Given the description of an element on the screen output the (x, y) to click on. 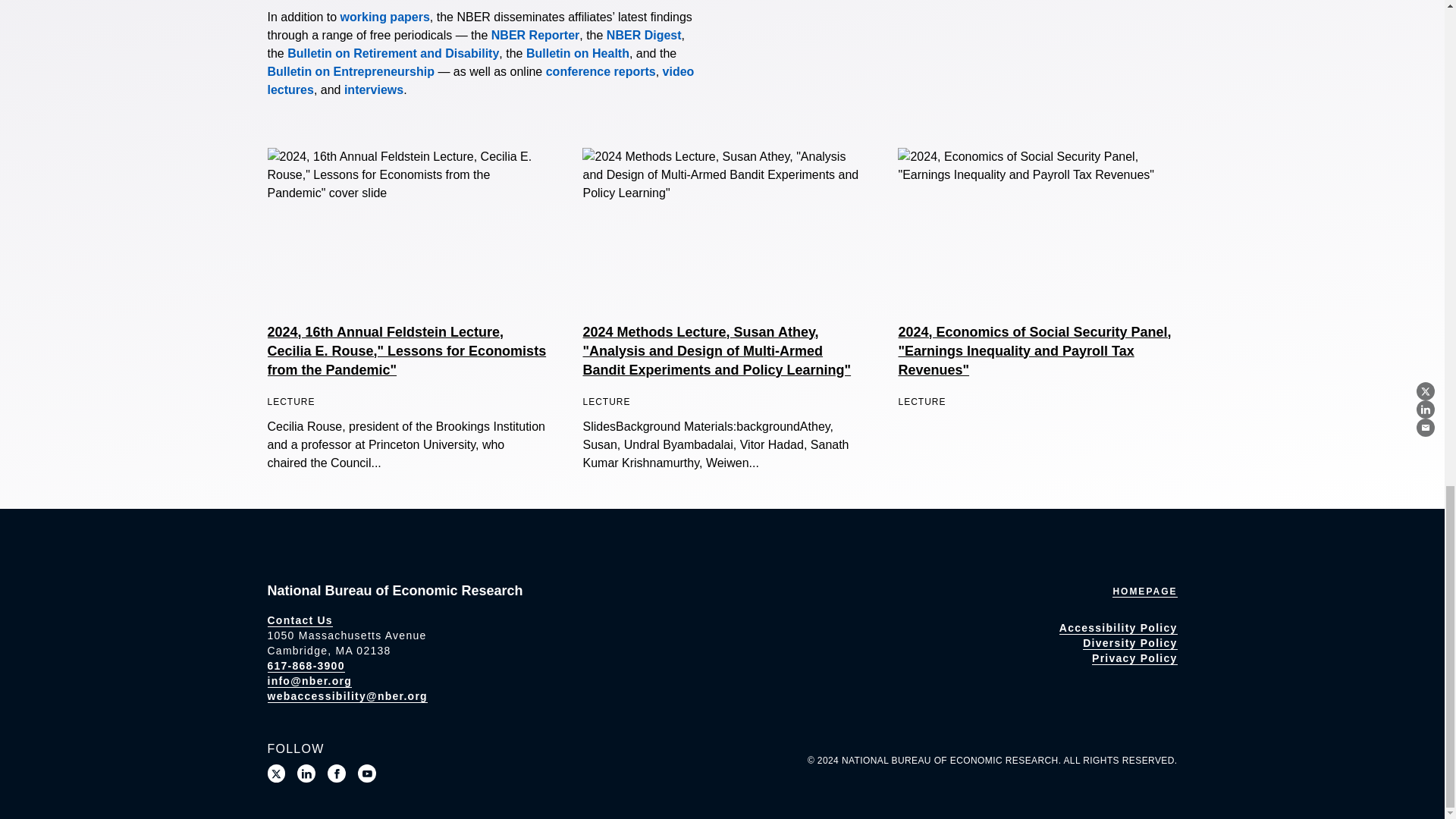
Working Papers (384, 16)
Conferences (601, 71)
Lectures (480, 80)
Research Spotlights (373, 89)
